Given the description of an element on the screen output the (x, y) to click on. 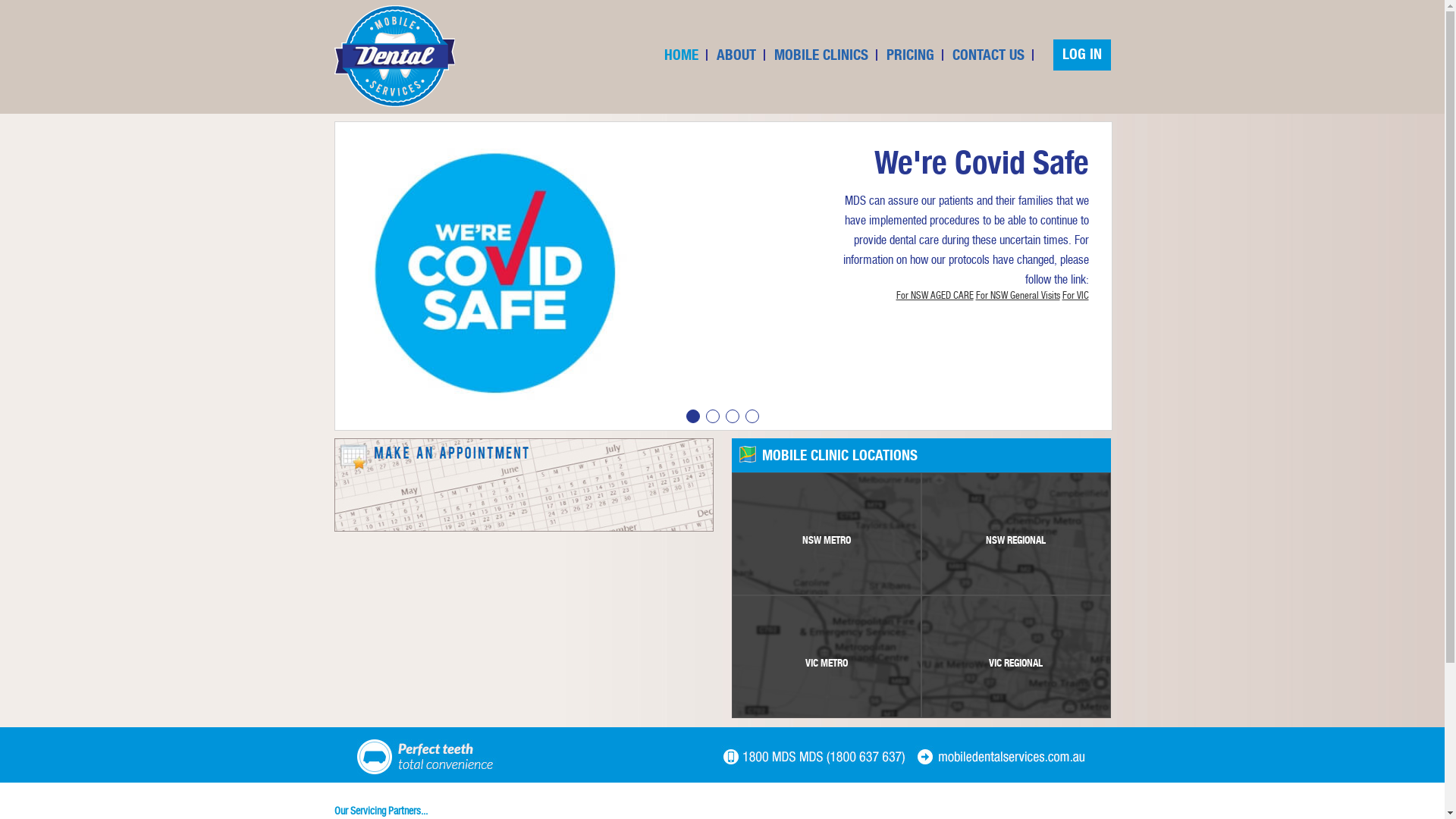
MOBILE CLINICS Element type: text (821, 54)
Next Element type: text (1106, 285)
NSW REGIONAL Element type: text (1016, 533)
4 Element type: text (751, 416)
LOG IN Element type: text (1081, 54)
For NSW General Visits Element type: text (1017, 295)
Previous Element type: text (337, 285)
For NSW AGED CARE Element type: text (934, 295)
VIC METRO Element type: text (826, 656)
VIC REGIONAL Element type: text (1016, 656)
For VIC Element type: text (1074, 295)
HOME Element type: text (681, 54)
1 Element type: text (692, 416)
Mobile Dental Services Element type: text (393, 55)
2 Element type: text (711, 416)
NSW METRO Element type: text (826, 533)
CONTACT US Element type: text (988, 54)
3 Element type: text (731, 416)
PRICING Element type: text (910, 54)
ABOUT Element type: text (736, 54)
